Given the description of an element on the screen output the (x, y) to click on. 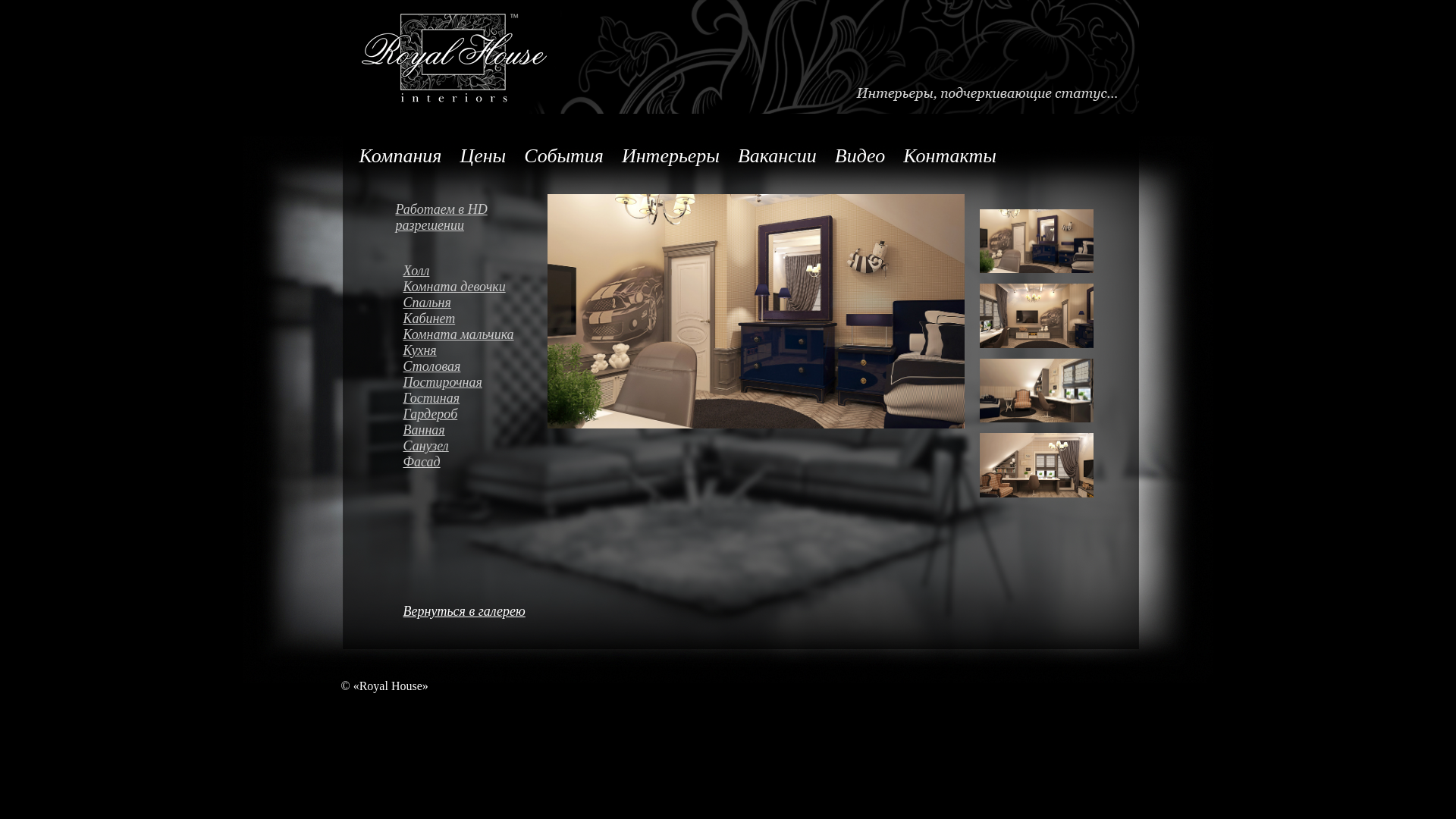
. Element type: text (578, 448)
. Element type: text (721, 434)
. Element type: text (885, 434)
. Element type: text (873, 434)
. Element type: text (848, 434)
. Element type: text (633, 434)
. Element type: text (639, 434)
. Element type: text (760, 448)
. Element type: text (669, 448)
. Element type: text (554, 434)
. Element type: text (554, 448)
. Element type: text (815, 448)
. Element type: text (645, 434)
. Element type: text (709, 434)
. Element type: text (548, 448)
. Element type: text (603, 434)
. Element type: text (663, 448)
. Element type: text (663, 434)
. Element type: text (597, 434)
. Element type: text (572, 434)
. Element type: text (633, 448)
. Element type: text (769, 434)
. Element type: text (724, 448)
. Element type: text (842, 434)
. Element type: text (909, 434)
. Element type: text (548, 434)
. Element type: text (669, 434)
. Element type: text (836, 434)
. Element type: text (766, 448)
. Element type: text (958, 434)
. Element type: text (782, 434)
. Element type: text (779, 448)
. Element type: text (603, 448)
. Element type: text (730, 448)
. Element type: text (733, 434)
. Element type: text (621, 448)
. Element type: text (797, 448)
. Element type: text (803, 448)
. Element type: text (742, 448)
. Element type: text (609, 448)
. Element type: text (621, 434)
. Element type: text (754, 448)
. Element type: text (566, 434)
. Element type: text (788, 434)
. Element type: text (933, 434)
. Element type: text (651, 434)
. Element type: text (675, 448)
. Element type: text (639, 448)
. Element type: text (566, 448)
. Element type: text (578, 434)
. Element type: text (879, 434)
. Element type: text (694, 434)
. Element type: text (915, 434)
. Element type: text (751, 434)
. Element type: text (806, 434)
. Element type: text (748, 448)
. Element type: text (897, 434)
. Element type: text (688, 434)
. Element type: text (763, 434)
. Element type: text (833, 448)
. Element type: text (597, 448)
. Element type: text (739, 434)
. Element type: text (776, 434)
. Element type: text (688, 448)
. Element type: text (812, 434)
. Element type: text (951, 434)
. Element type: text (682, 448)
. Element type: text (800, 434)
. Element type: text (694, 448)
. Element type: text (615, 448)
. Element type: text (560, 434)
. Element type: text (830, 434)
. Element type: text (591, 448)
. Element type: text (860, 434)
. Element type: text (727, 434)
. Element type: text (821, 448)
. Element type: text (657, 434)
. Element type: text (939, 434)
. Element type: text (712, 448)
. Element type: text (706, 448)
. Element type: text (745, 434)
. Element type: text (791, 448)
. Element type: text (809, 448)
. Element type: text (591, 434)
. Element type: text (609, 434)
. Element type: text (785, 448)
. Element type: text (675, 434)
. Element type: text (927, 434)
. Element type: text (891, 434)
. Element type: text (903, 434)
. Element type: text (757, 434)
. Element type: text (700, 434)
. Element type: text (867, 434)
. Element type: text (845, 448)
. Element type: text (682, 434)
. Element type: text (827, 448)
. Element type: text (560, 448)
. Element type: text (854, 434)
. Element type: text (627, 434)
. Element type: text (945, 434)
. Element type: text (615, 434)
. Element type: text (773, 448)
. Element type: text (572, 448)
. Element type: text (818, 434)
. Element type: text (718, 448)
. Element type: text (627, 448)
. Element type: text (700, 448)
. Element type: text (703, 434)
. Element type: text (715, 434)
. Element type: text (645, 448)
. Element type: text (657, 448)
. Element type: text (824, 434)
. Element type: text (584, 448)
. Element type: text (794, 434)
. Element type: text (651, 448)
. Element type: text (839, 448)
. Element type: text (921, 434)
. Element type: text (736, 448)
. Element type: text (584, 434)
. Element type: text (851, 448)
